Given the description of an element on the screen output the (x, y) to click on. 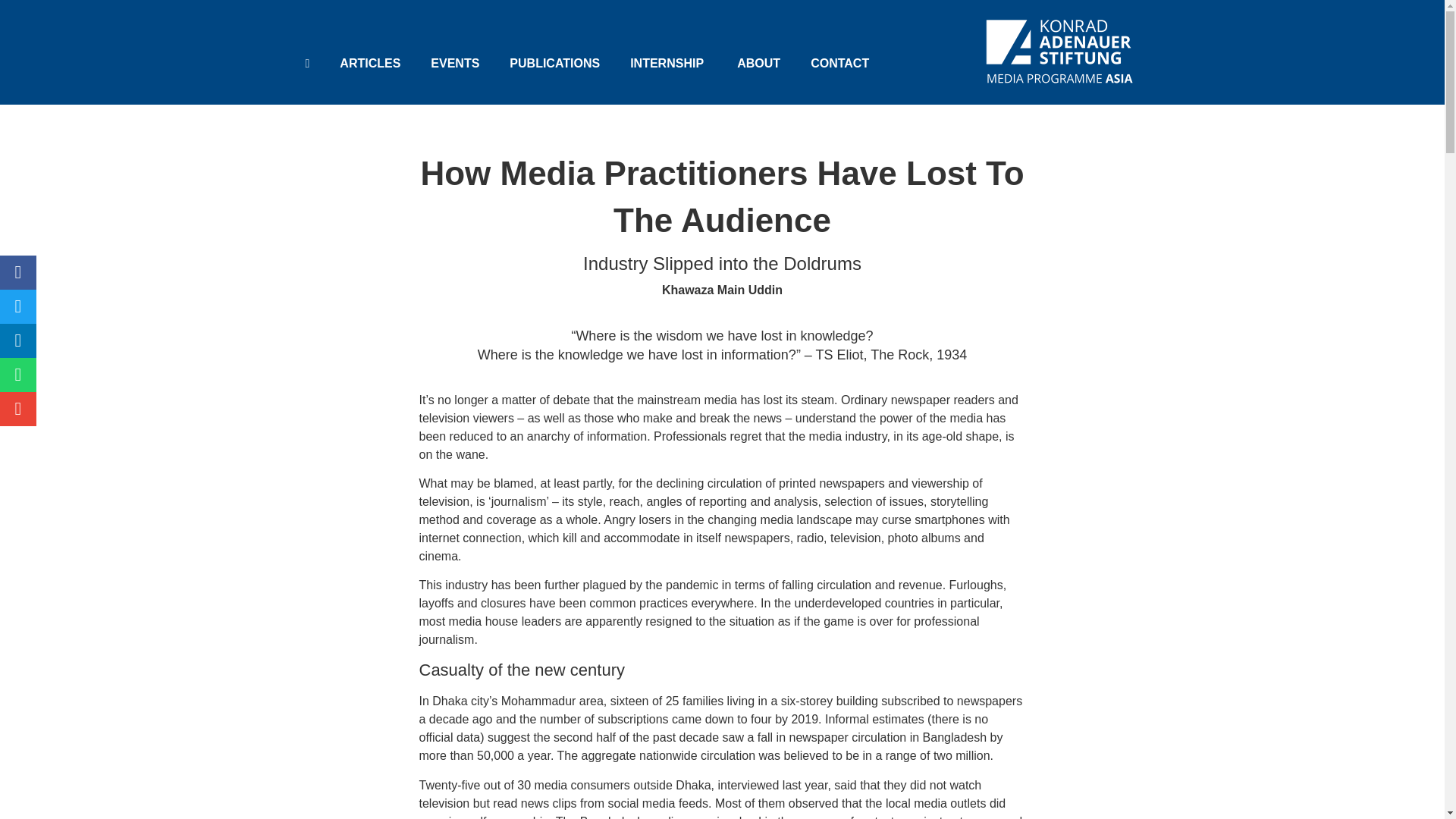
PUBLICATIONS (554, 63)
EVENTS (454, 63)
INTERNSHIP  (668, 63)
CONTACT (838, 63)
Khawaza Main Uddin (722, 289)
ABOUT (758, 63)
ARTICLES (369, 63)
